Given the description of an element on the screen output the (x, y) to click on. 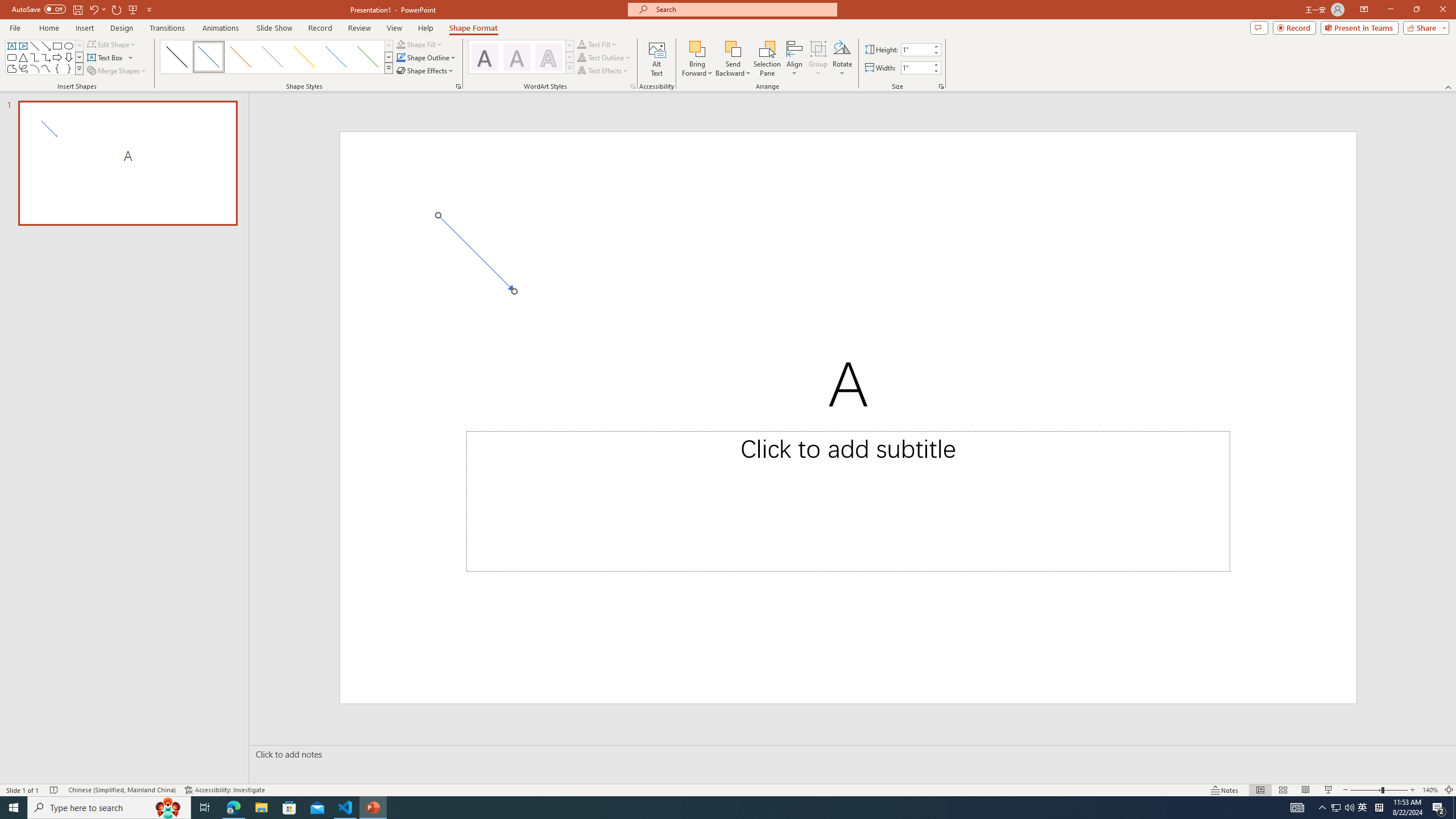
Subtle Line - Accent 3 (272, 56)
Align (794, 58)
AutomationID: ShapeStylesGallery (276, 56)
Format Text Effects... (632, 85)
Subtle Line - Accent 6 (368, 56)
